Given the description of an element on the screen output the (x, y) to click on. 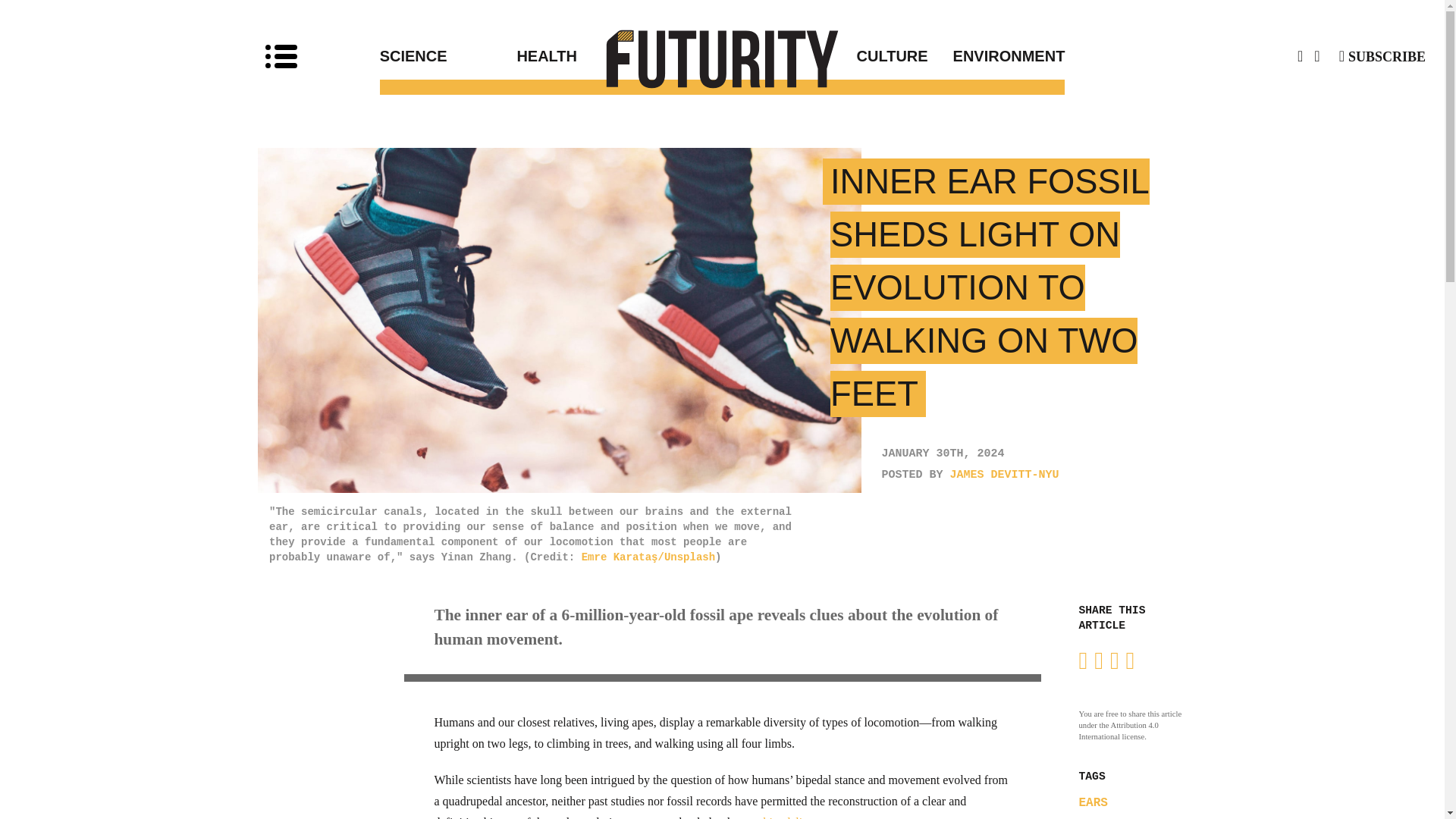
EARS (1092, 802)
CULTURE (824, 55)
JAMES DEVITT-NYU (1004, 474)
EVOLUTION (1110, 818)
ENVIRONMENT (996, 55)
SCIENCE (448, 55)
HEALTH (619, 55)
Research news from top universities (722, 58)
Culture (824, 55)
SUBSCRIBE (1382, 56)
Health (619, 55)
Science (448, 55)
Environment (996, 55)
